Given the description of an element on the screen output the (x, y) to click on. 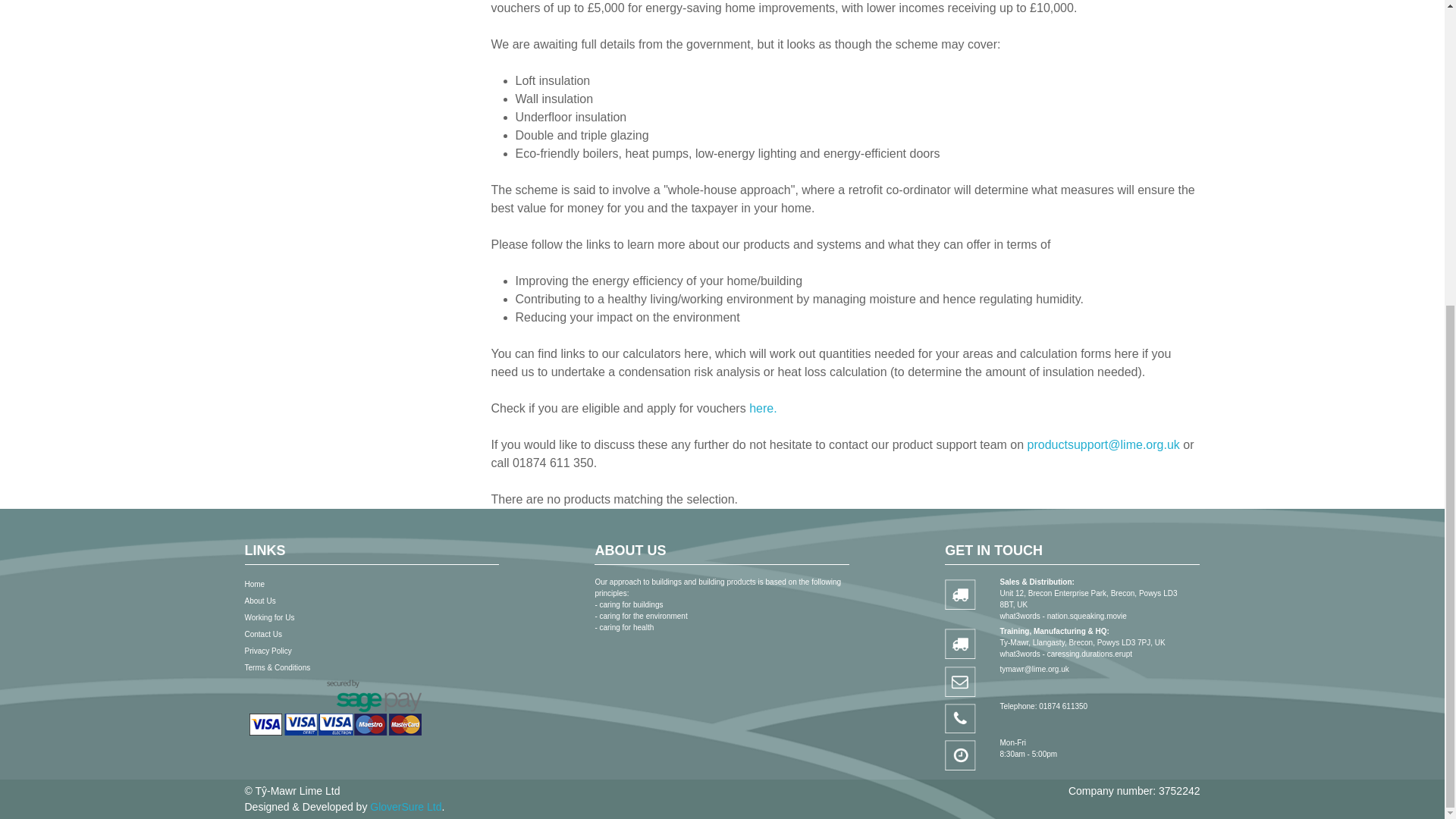
Payment Methods (334, 708)
